Given the description of an element on the screen output the (x, y) to click on. 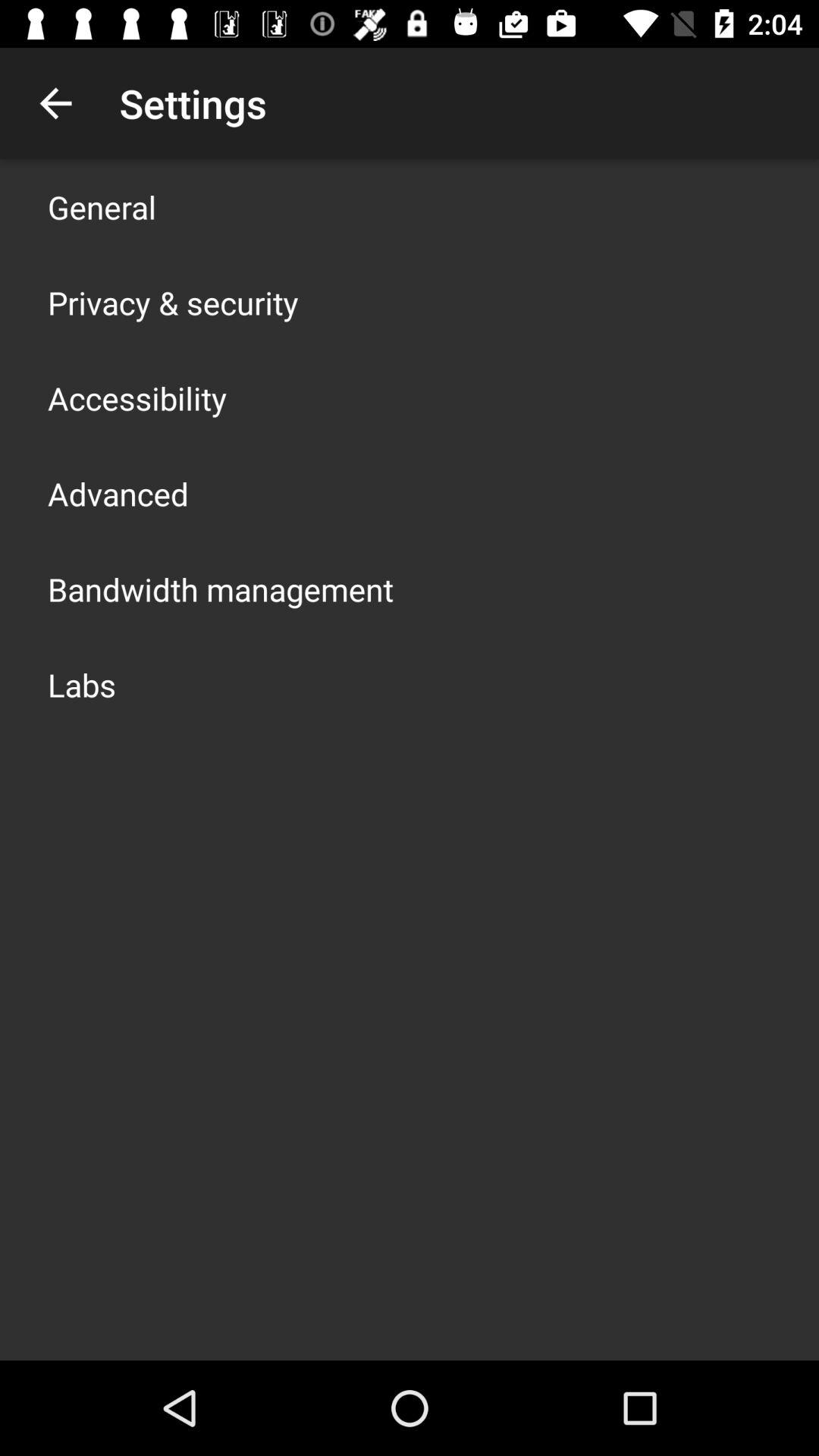
turn off the app above the labs (220, 588)
